Given the description of an element on the screen output the (x, y) to click on. 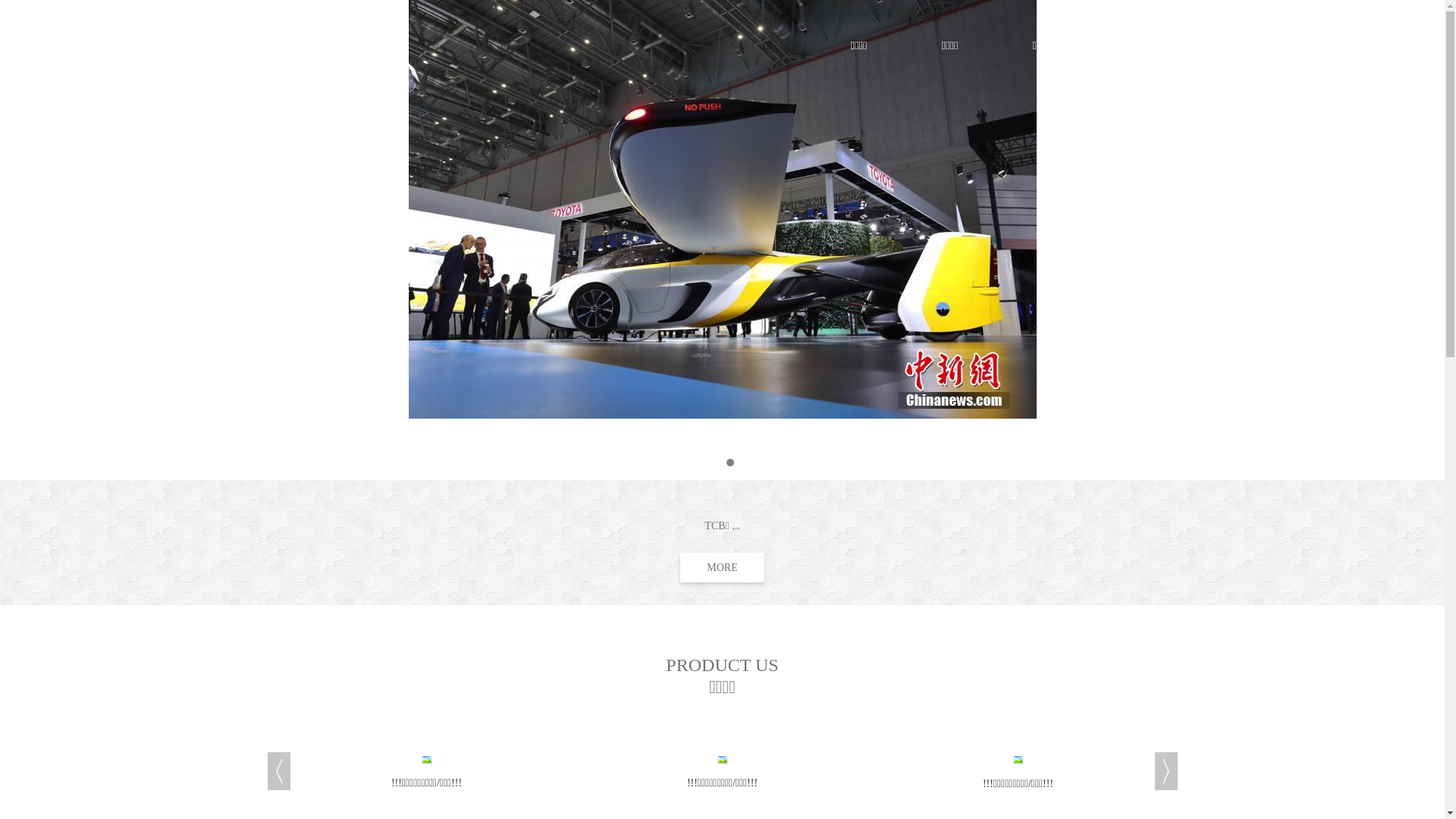
MORE Element type: text (721, 567)
1 Element type: text (714, 462)
2 Element type: text (730, 462)
